Given the description of an element on the screen output the (x, y) to click on. 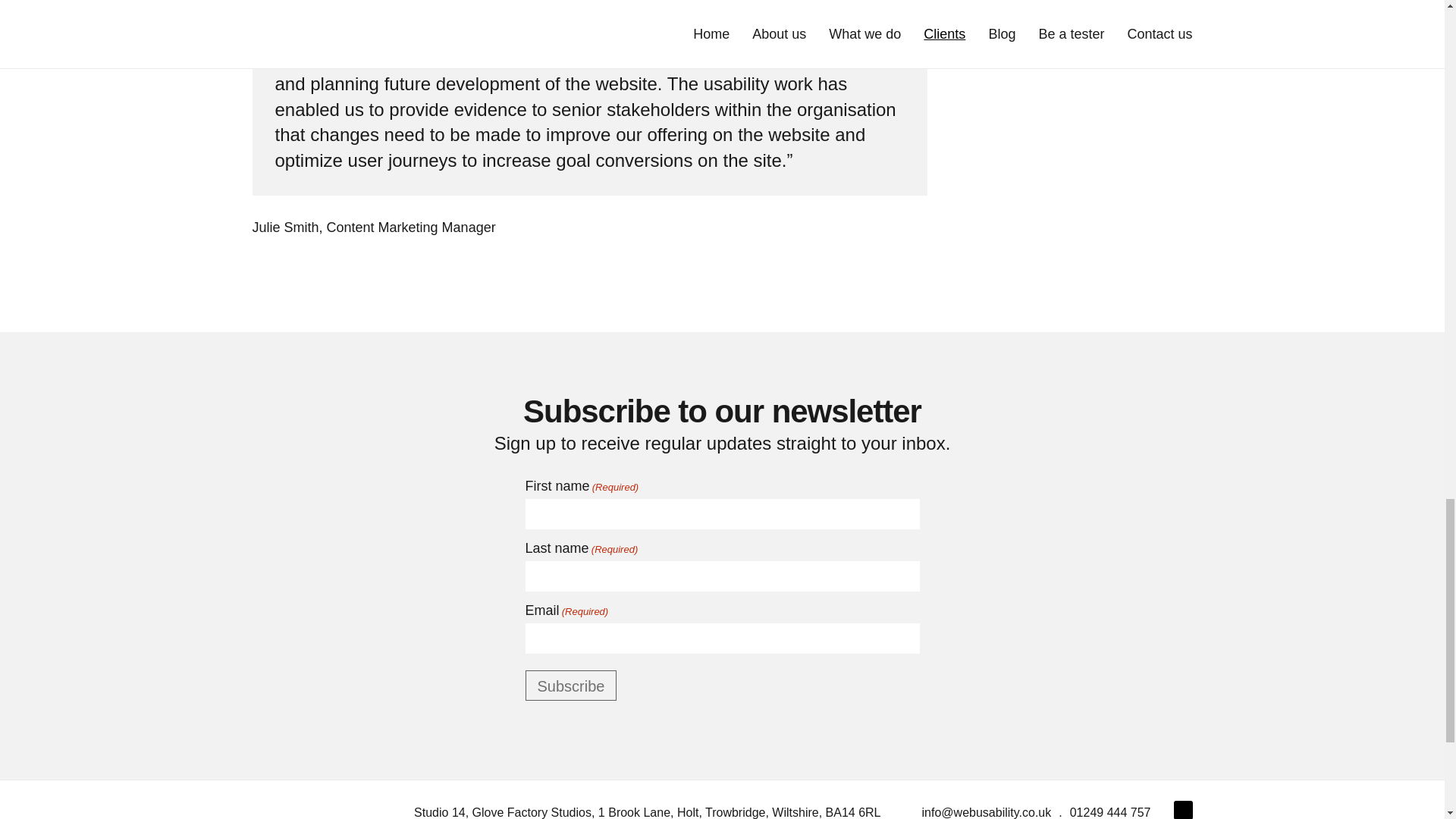
01249 444 757 (1110, 812)
Subscribe (569, 685)
Subscribe (569, 685)
